Given the description of an element on the screen output the (x, y) to click on. 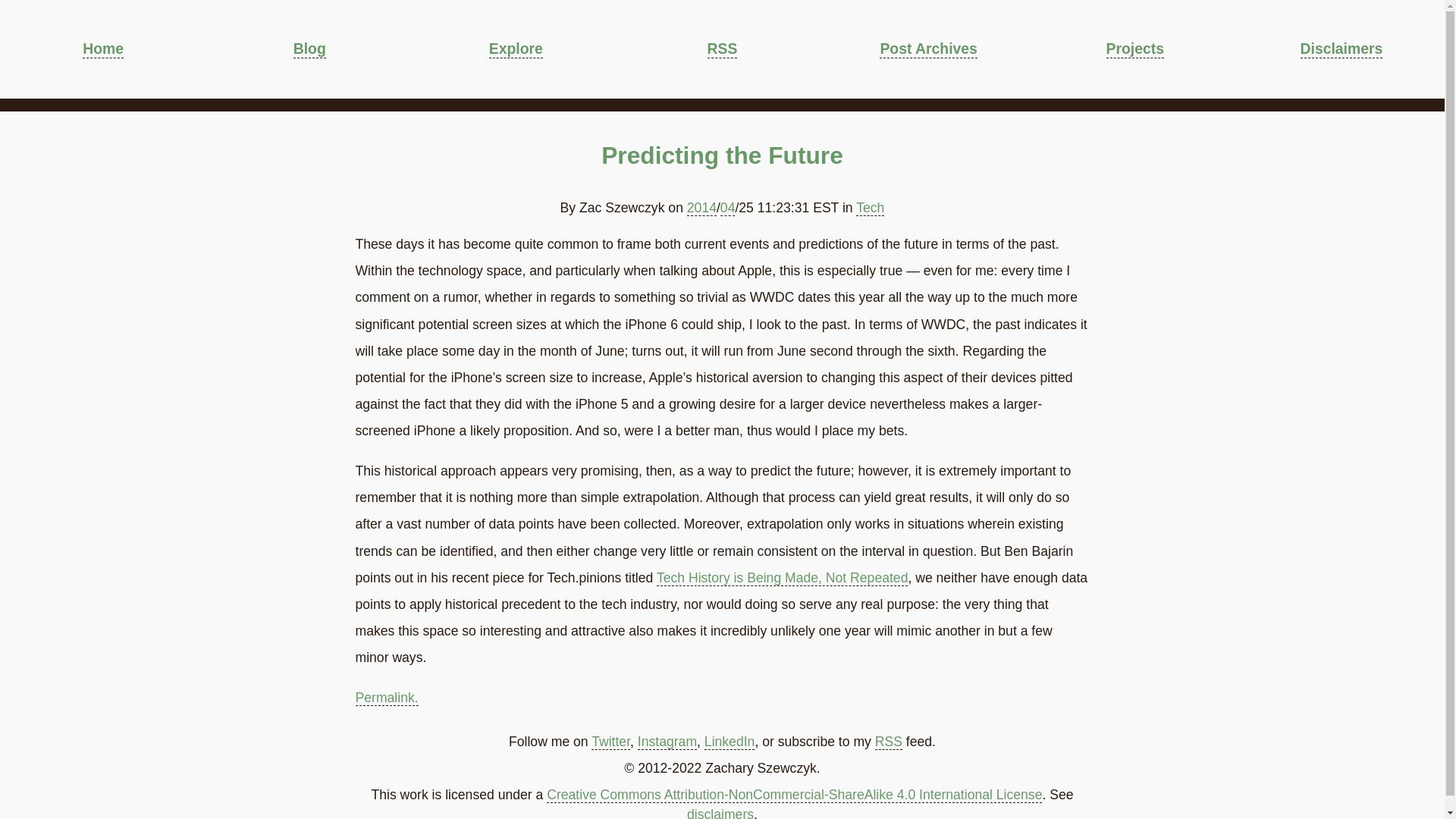
disclaimers (720, 812)
Twitter (610, 741)
RSS (722, 49)
RSS (888, 741)
Post Archives (927, 49)
Predicting the Future (722, 154)
2014 (701, 207)
Instagram (667, 741)
Disclaimers (1341, 49)
Tech History is Being Made, Not Repeated (782, 578)
Explore (516, 49)
LinkedIn (729, 741)
Tech (869, 207)
Blog (310, 49)
